Given the description of an element on the screen output the (x, y) to click on. 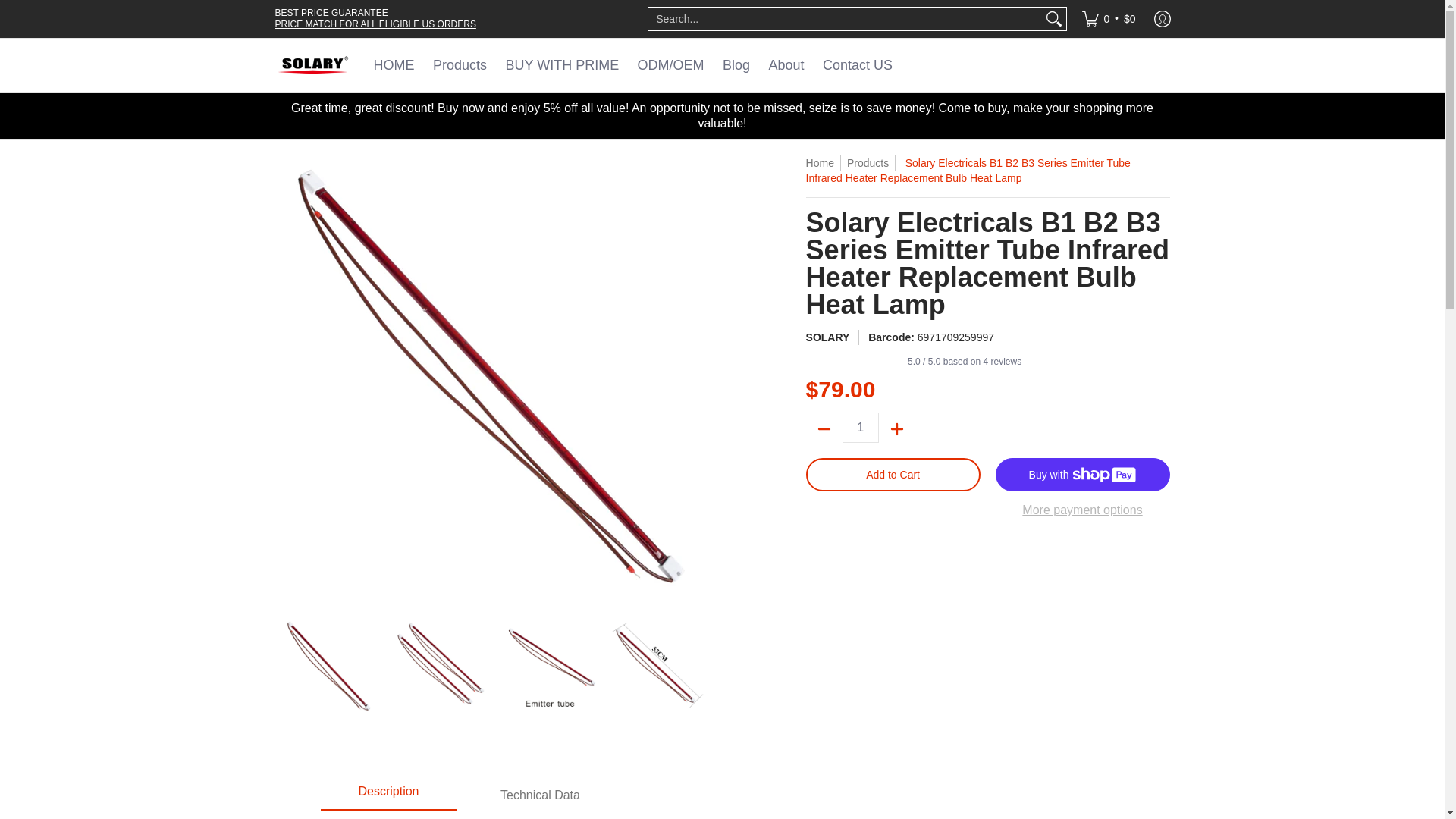
Products (460, 64)
HOME (393, 64)
HOME (393, 64)
Cart (1108, 18)
1 (861, 427)
Solary Electricals (312, 64)
PRICE MATCH FOR ALL ELIGIBLE US ORDERS (375, 23)
Products (460, 64)
Contact US (857, 64)
About (786, 64)
